Given the description of an element on the screen output the (x, y) to click on. 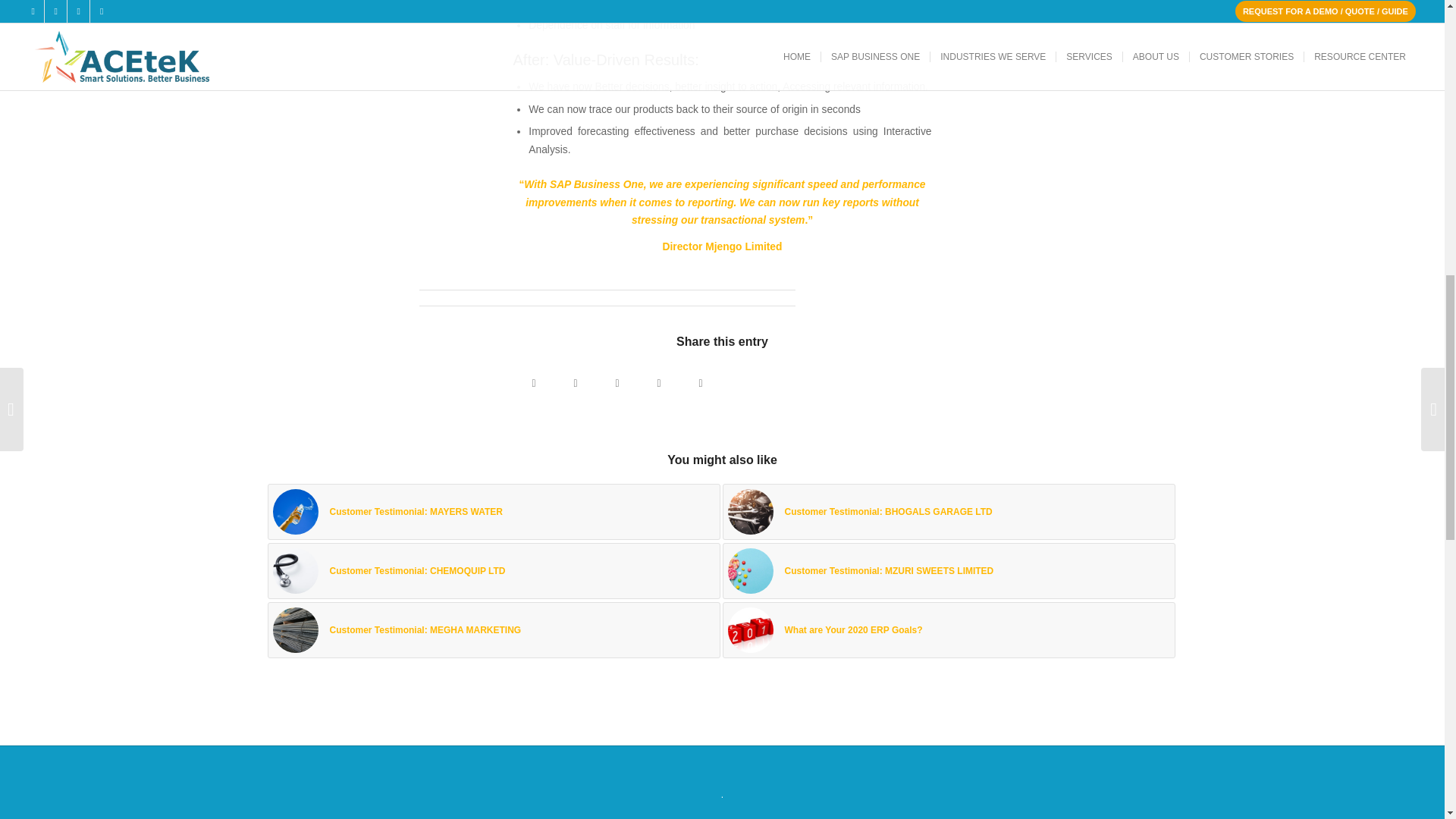
Customer Testimonial: MAYERS WATER (492, 511)
